Given the description of an element on the screen output the (x, y) to click on. 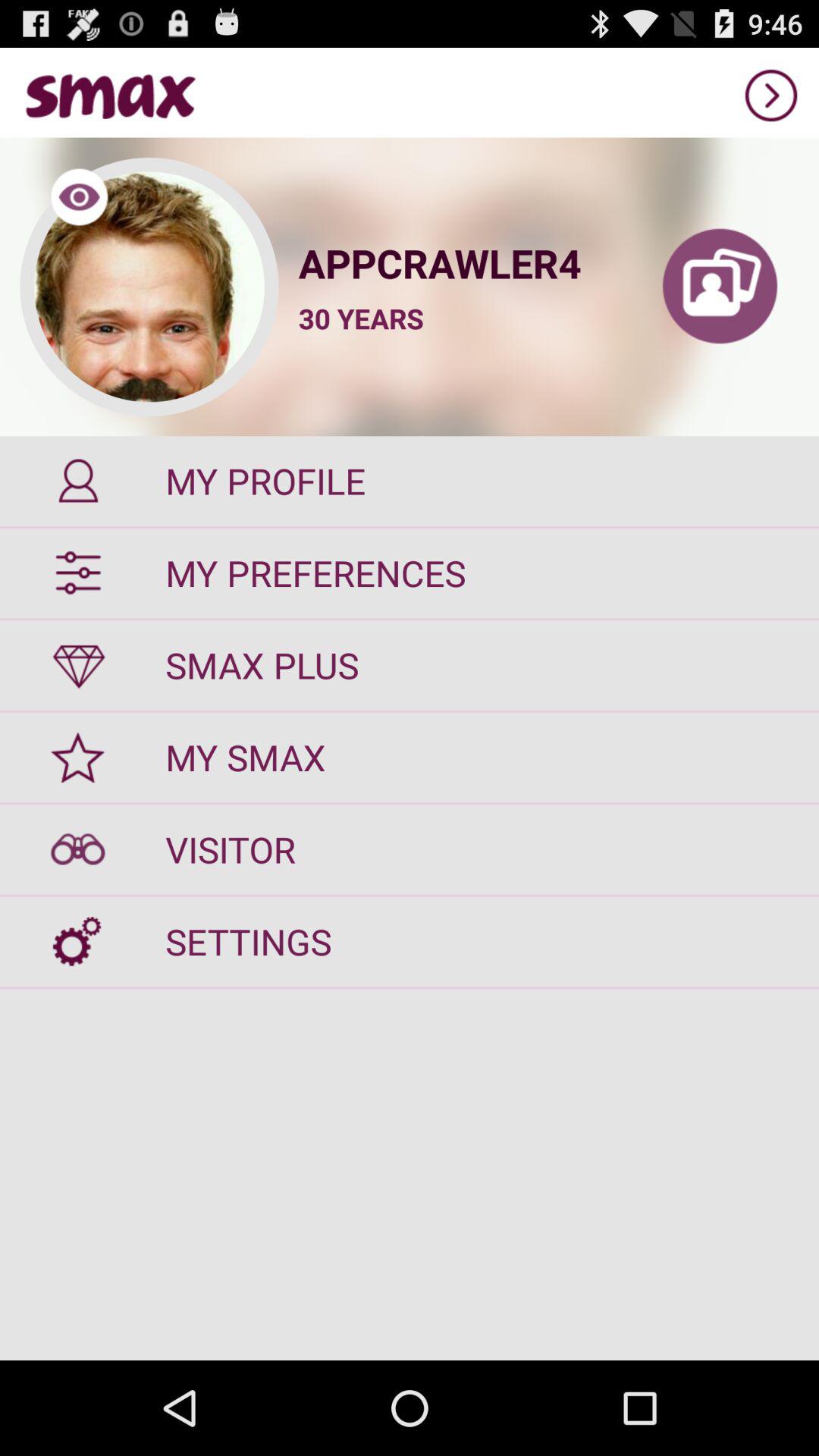
go forward (771, 95)
